Given the description of an element on the screen output the (x, y) to click on. 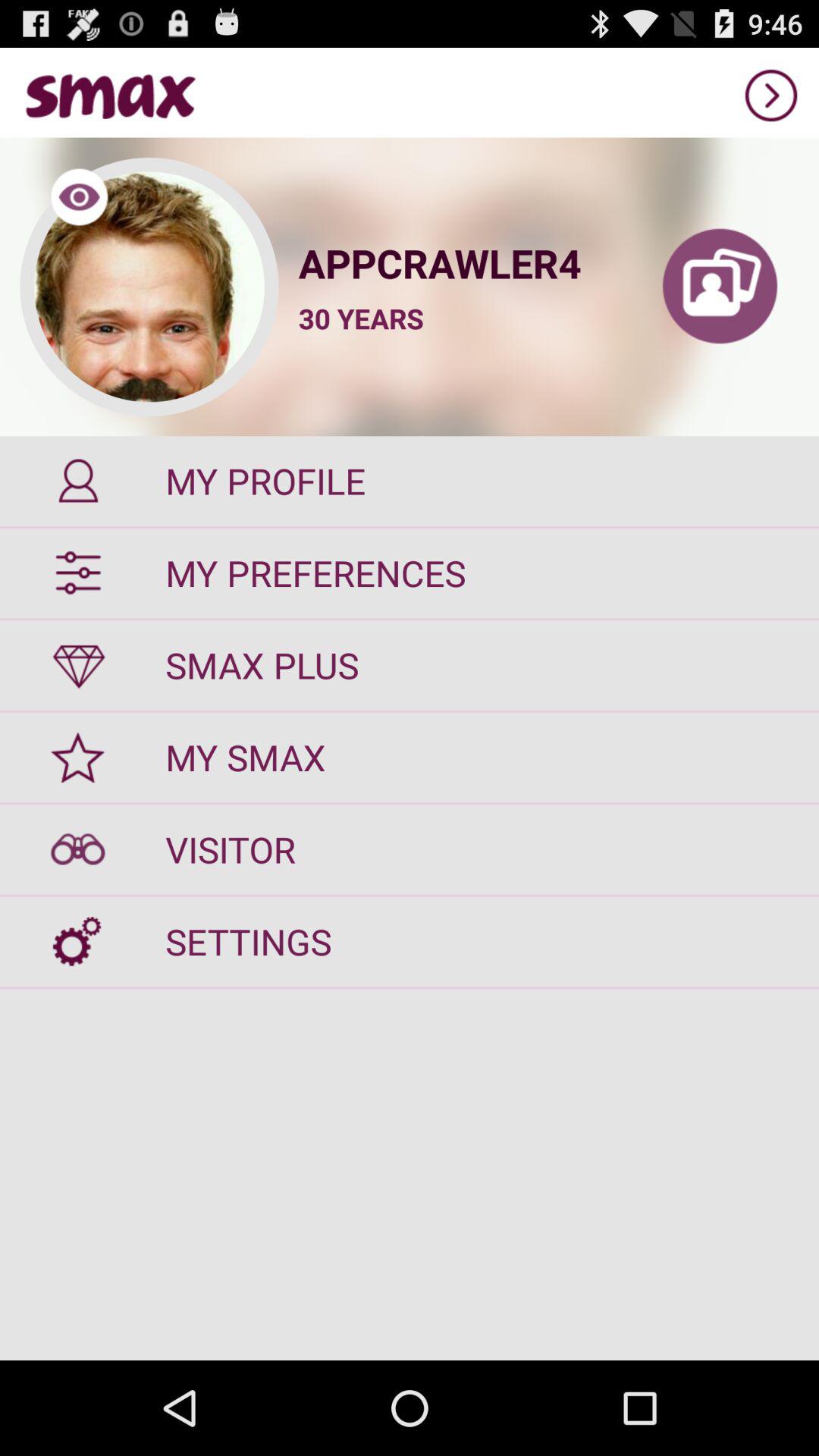
go forward (771, 95)
